Given the description of an element on the screen output the (x, y) to click on. 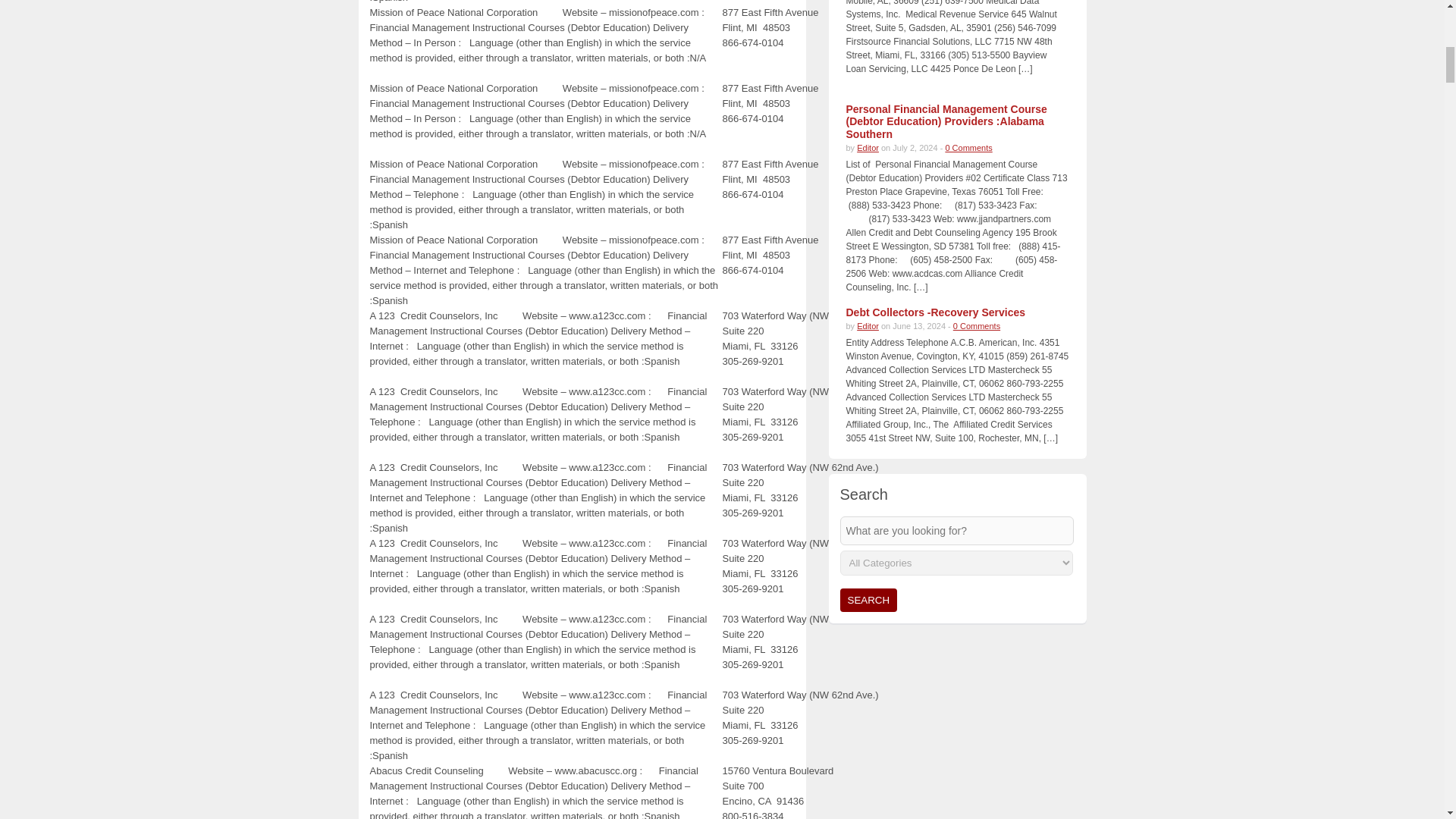
Search (869, 599)
